Given the description of an element on the screen output the (x, y) to click on. 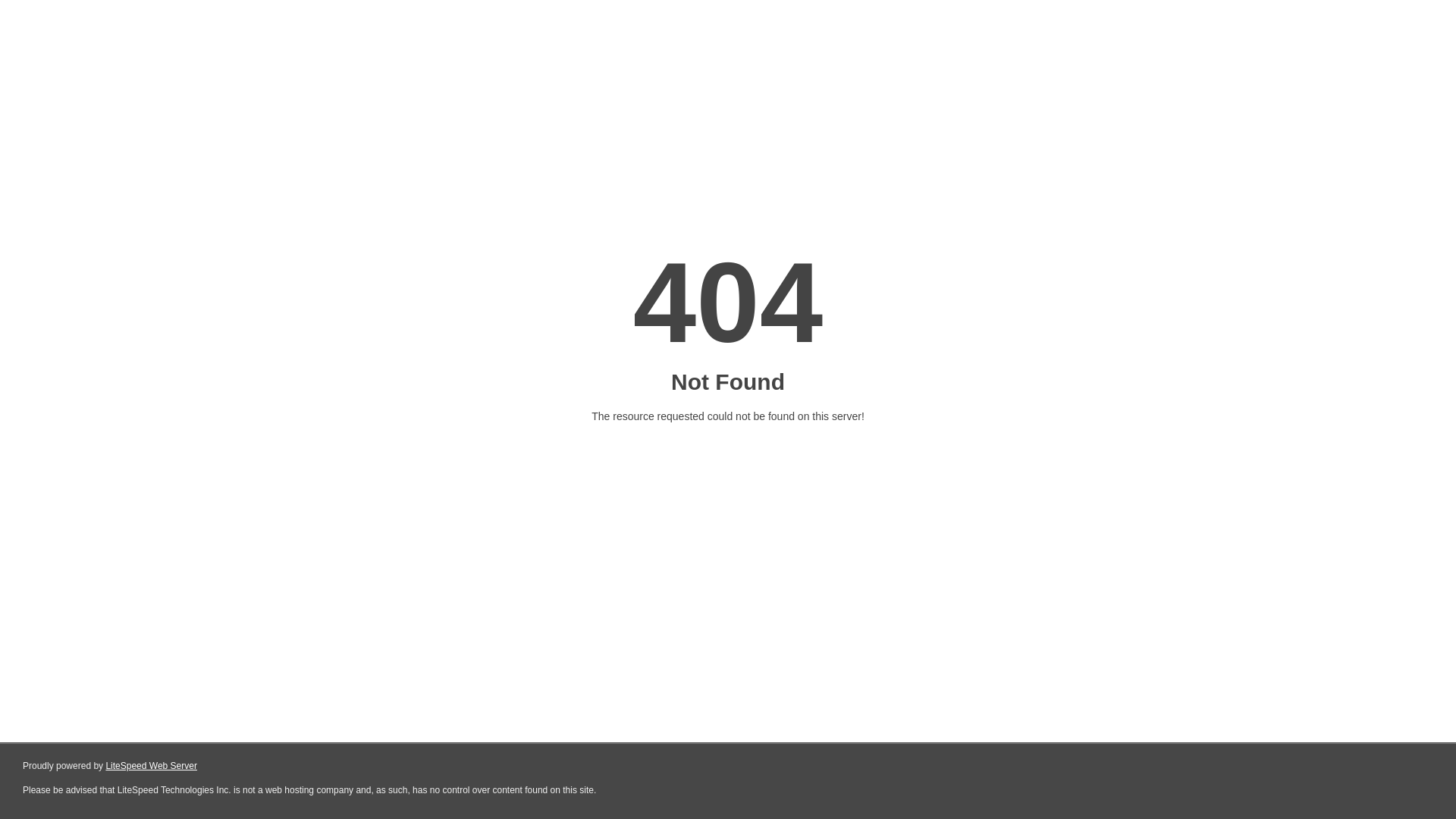
LiteSpeed Web Server Element type: text (151, 765)
